Given the description of an element on the screen output the (x, y) to click on. 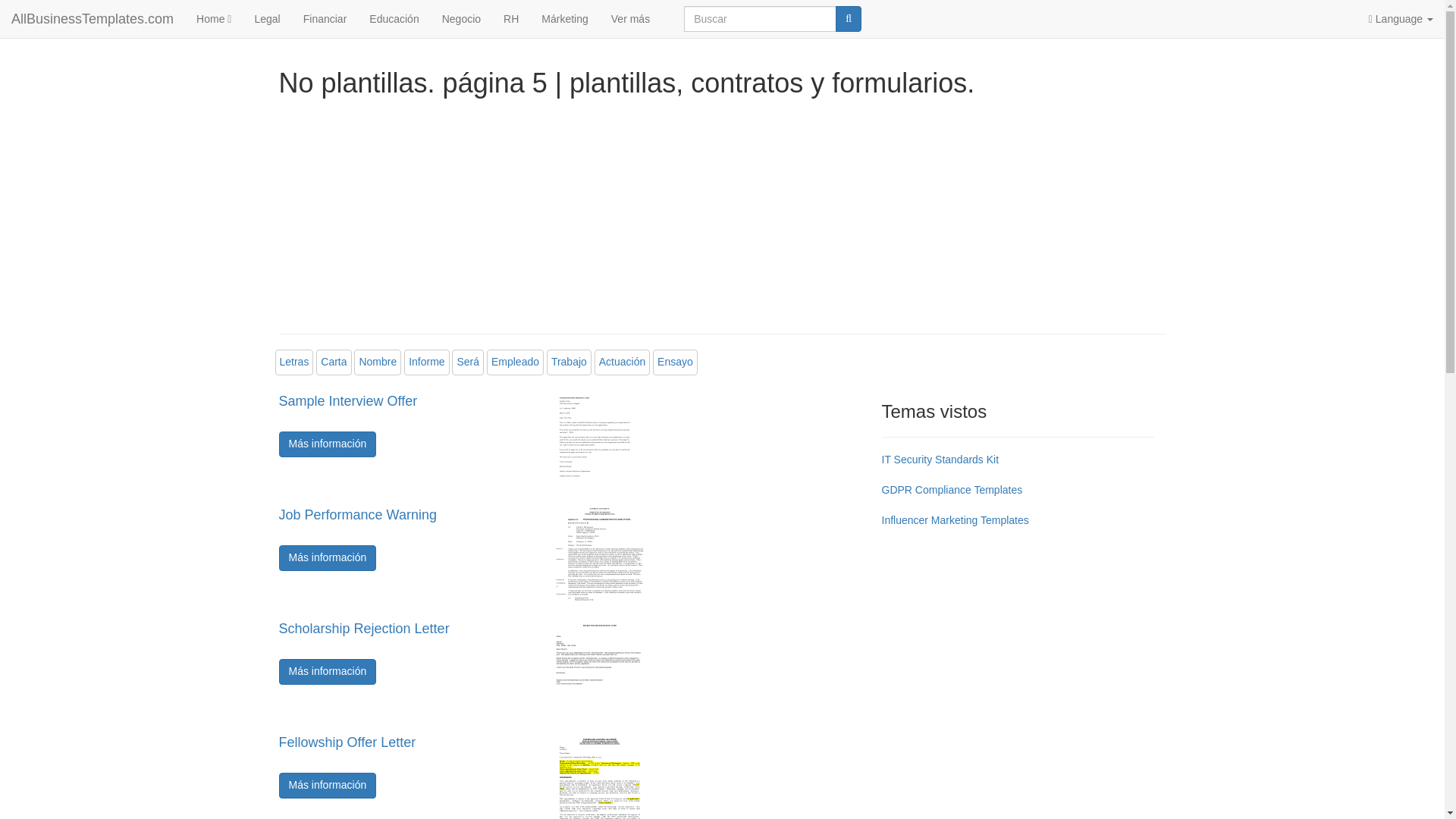
Carta (333, 361)
Legal (267, 18)
Advertisement (1017, 657)
Trabajo (568, 361)
Financiar (325, 18)
Nombre (377, 361)
Ensayo (675, 361)
Job Performance Warning (395, 525)
Informe (426, 361)
RH (510, 18)
Scholarship Rejection Letter (395, 639)
Sample Interview Offer (395, 411)
Fellowship Offer Letter (395, 753)
Letras (293, 361)
Negocio (461, 18)
